Given the description of an element on the screen output the (x, y) to click on. 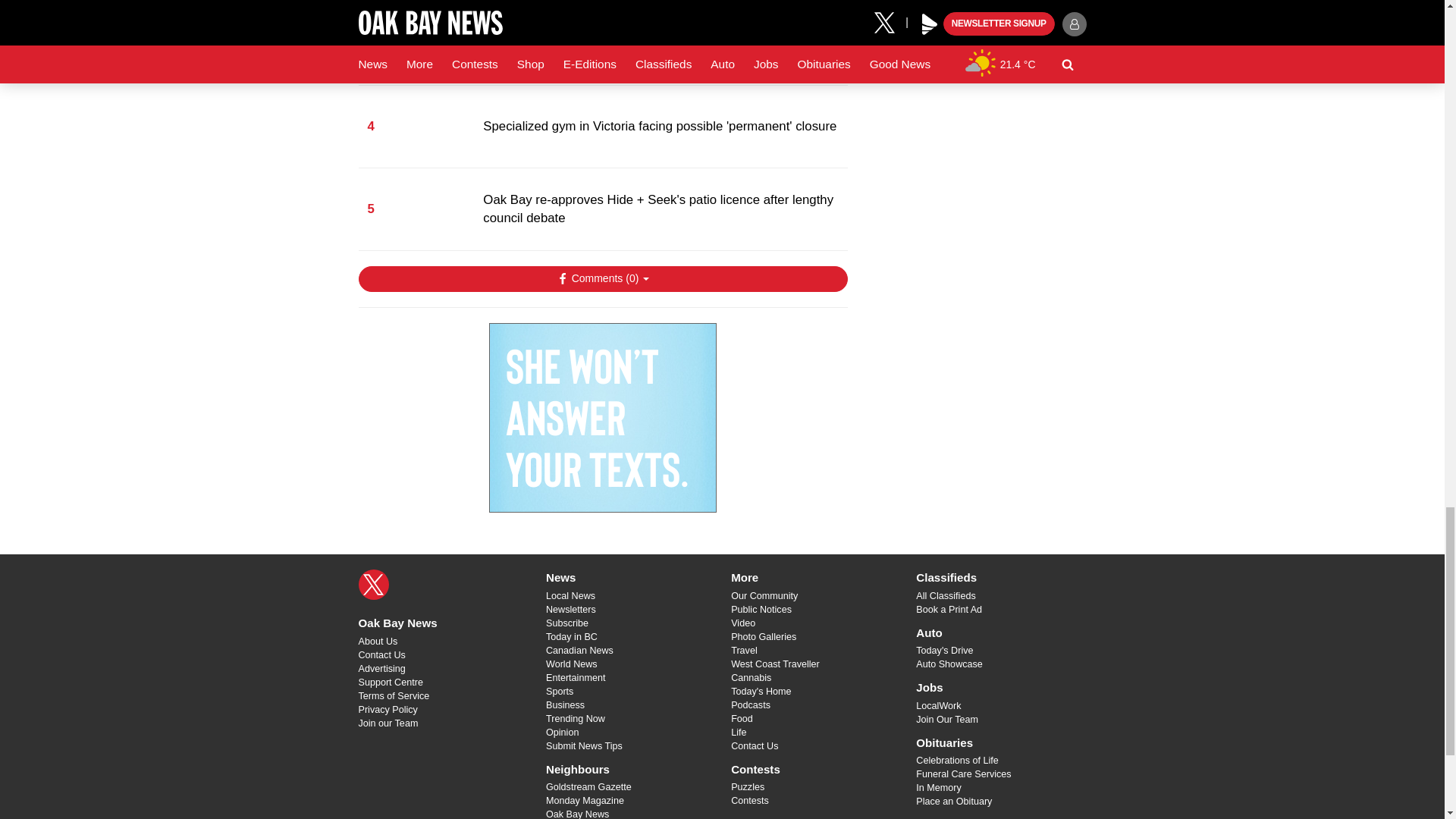
3rd party ad content (602, 417)
Show Comments (602, 278)
X (373, 584)
